Given the description of an element on the screen output the (x, y) to click on. 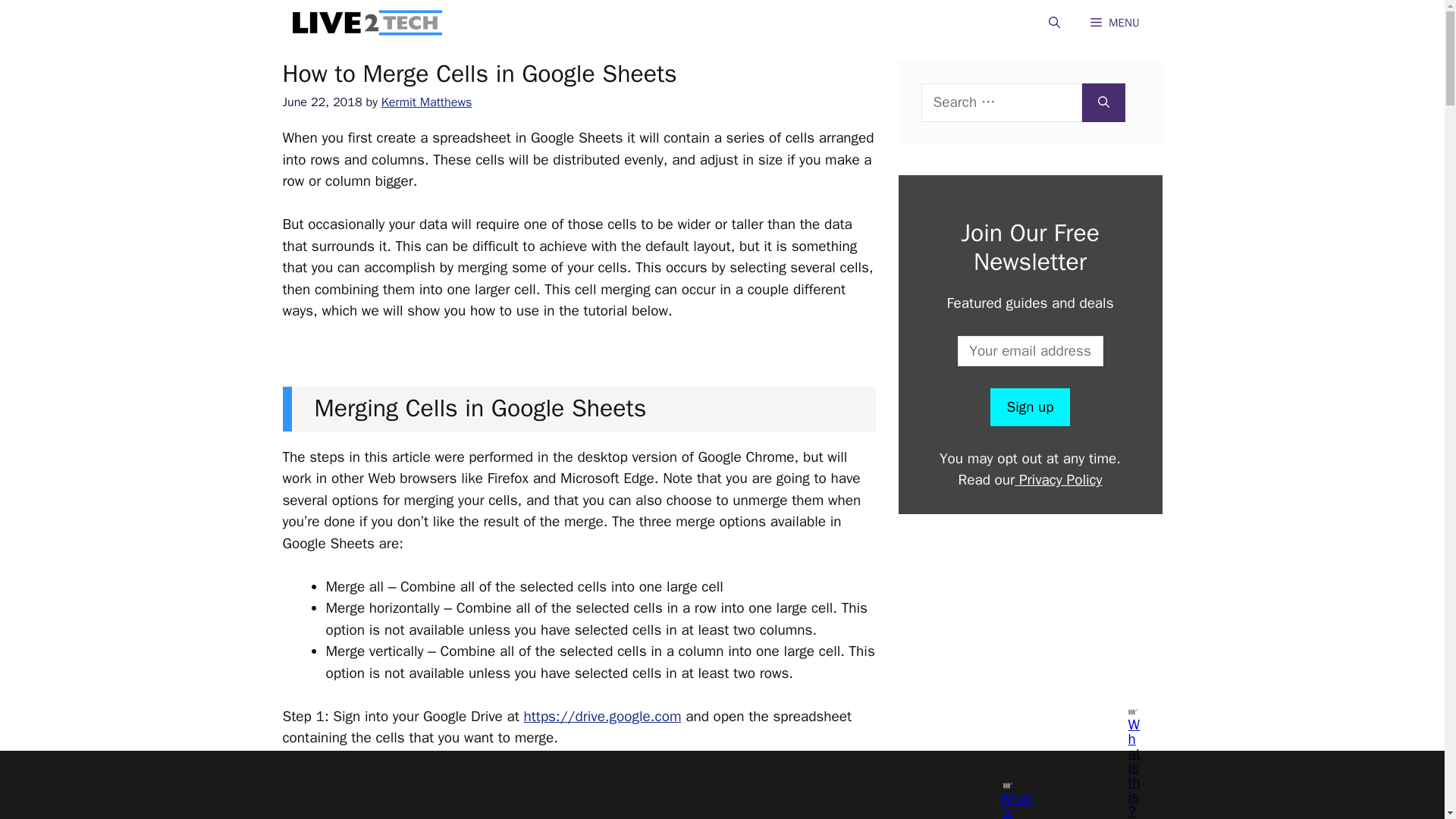
3rd party ad content (579, 816)
3rd party ad content (1028, 608)
Sign up (1029, 407)
Kermit Matthews (426, 101)
3rd party ad content (708, 785)
MENU (1114, 22)
